Given the description of an element on the screen output the (x, y) to click on. 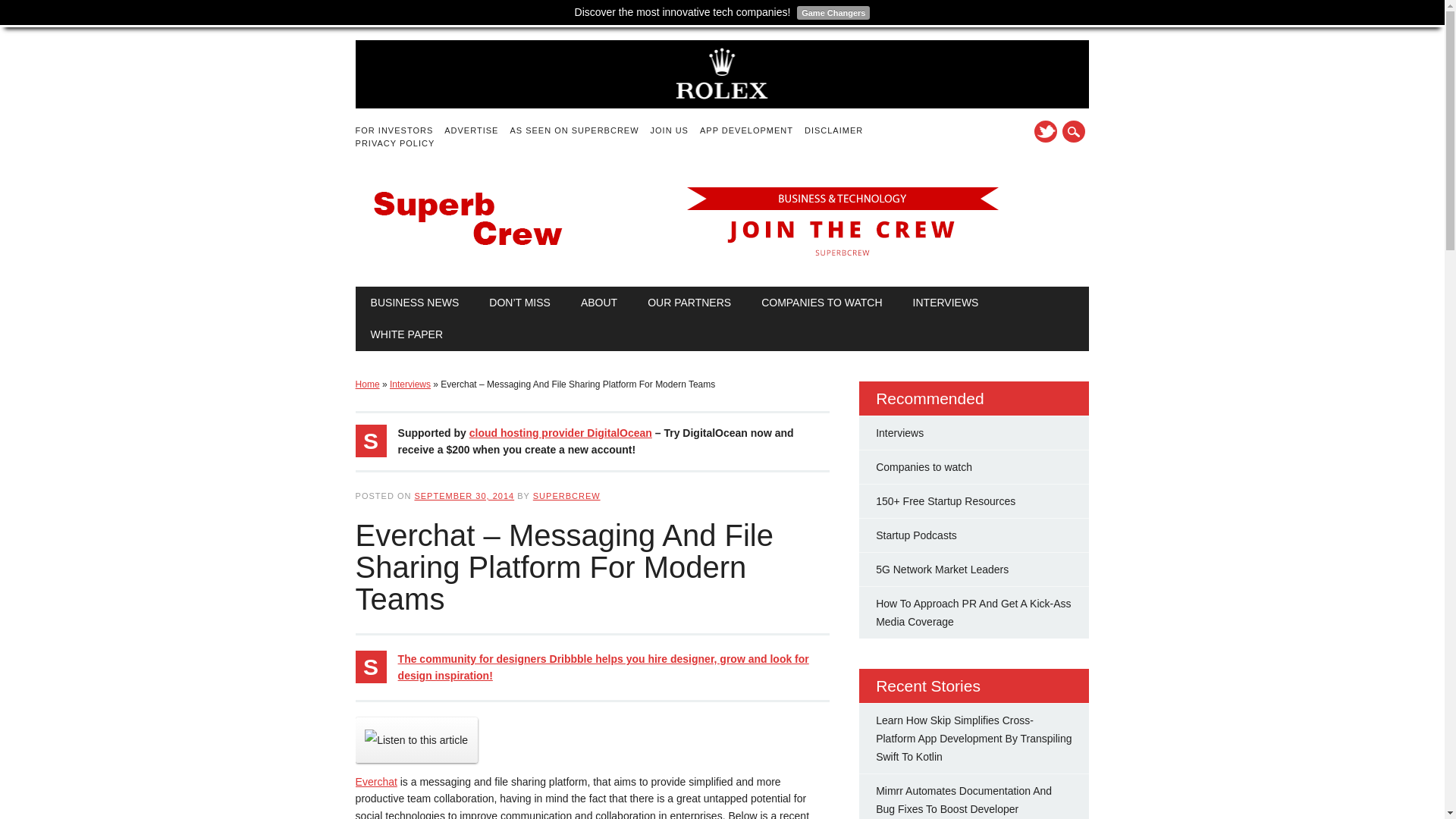
Interviews (410, 384)
AS SEEN ON SUPERBCREW (579, 130)
Business News (414, 302)
BUSINESS NEWS (414, 302)
ABOUT (598, 302)
SuperbCrew (469, 255)
OUR PARTNERS (688, 302)
COMPANIES TO WATCH (820, 302)
cloud hosting provider DigitalOcean (560, 432)
